Given the description of an element on the screen output the (x, y) to click on. 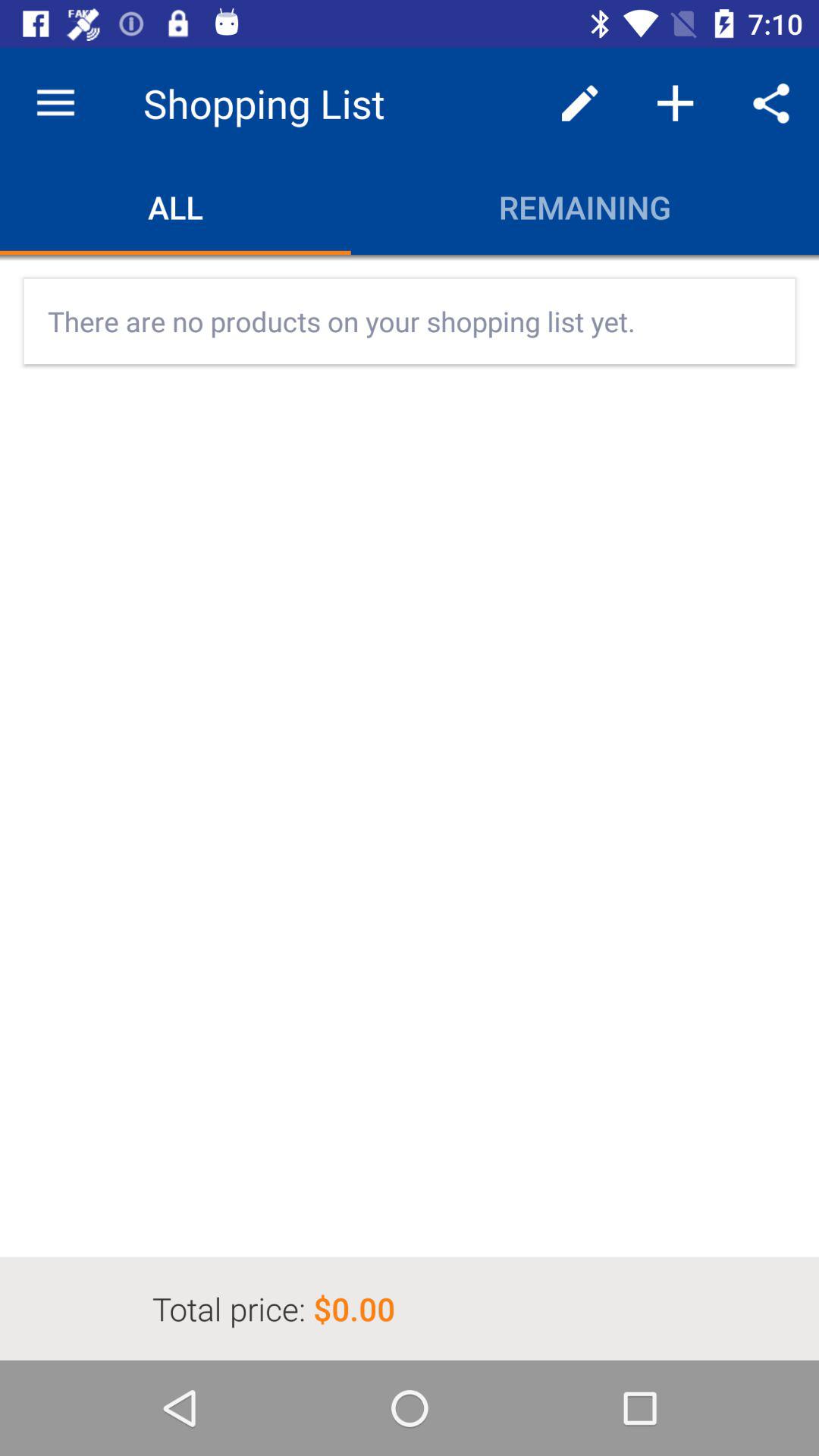
turn off item above the remaining icon (579, 103)
